Given the description of an element on the screen output the (x, y) to click on. 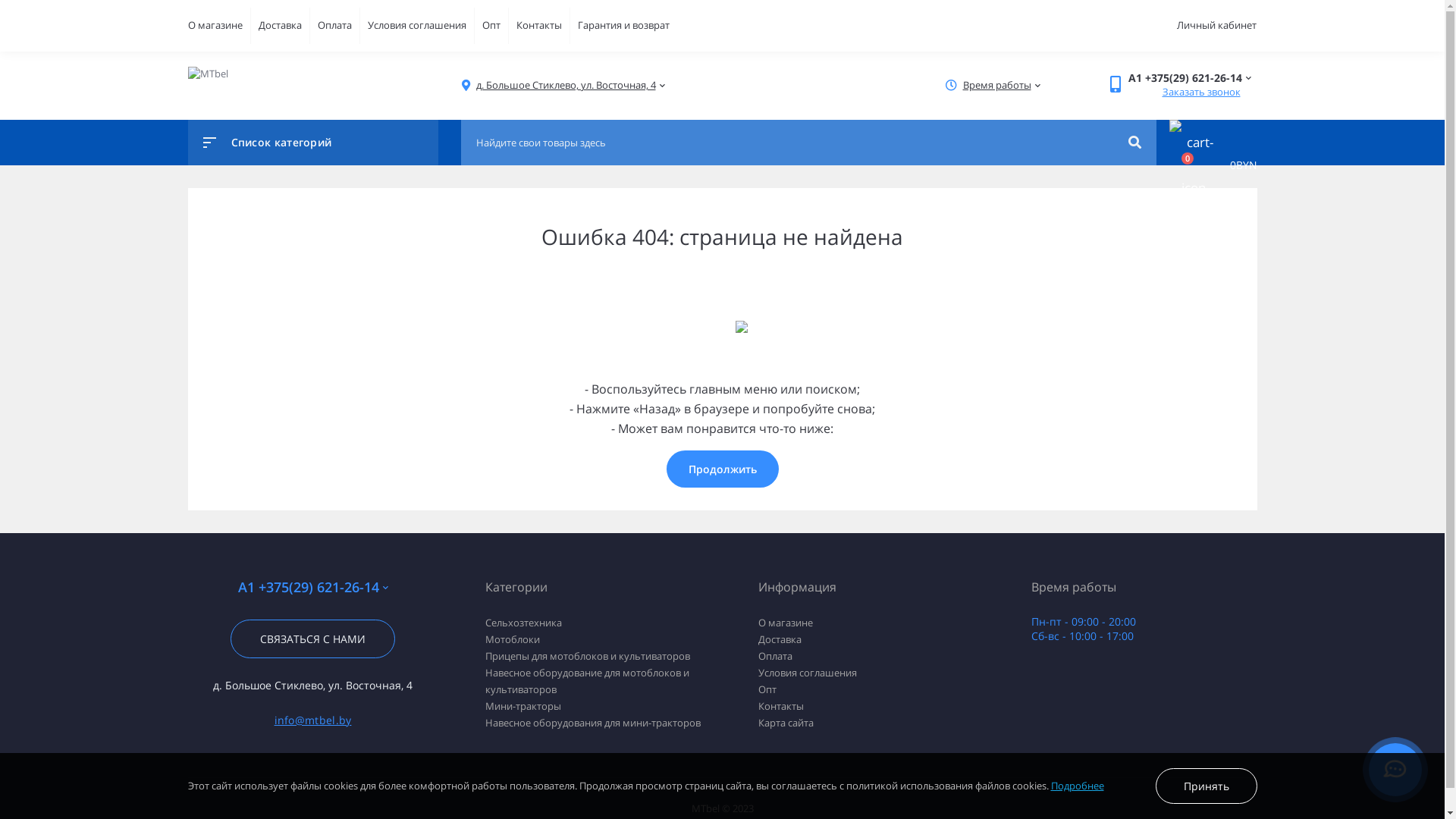
0
0BYN Element type: text (1206, 164)
MTbel Element type: hover (208, 73)
info@mtbel.by Element type: text (312, 719)
